Given the description of an element on the screen output the (x, y) to click on. 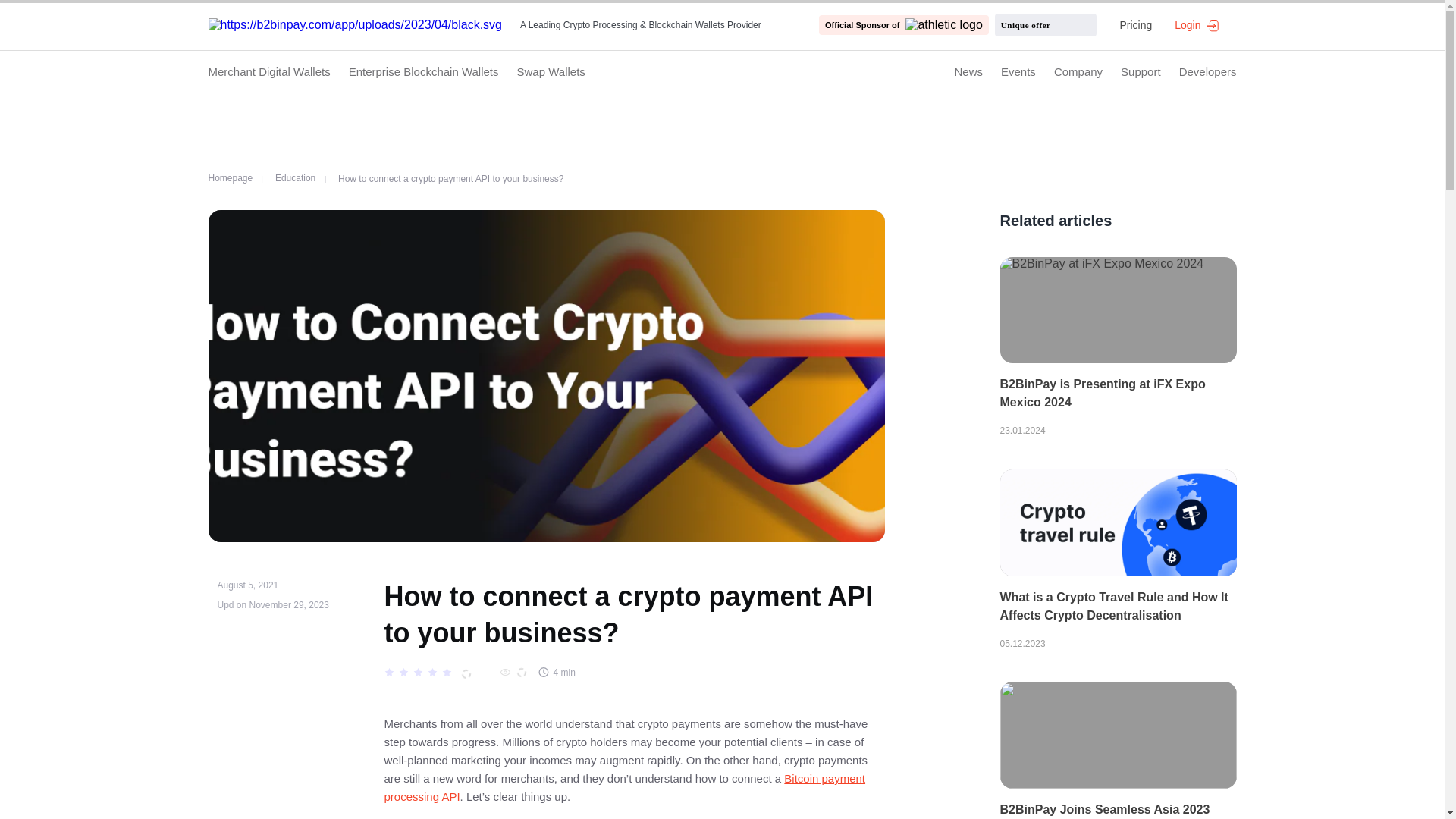
What is a crypto travel rule (1117, 522)
News (967, 71)
Company (1078, 71)
Unique offer (1042, 24)
Pricing (1135, 24)
Support (1140, 71)
Enterprise Blockchain Wallets (424, 71)
Developers (1207, 71)
B2BinPay at iFX Expo Mexico (1117, 310)
Seamless Asia 2023 (1117, 734)
